Given the description of an element on the screen output the (x, y) to click on. 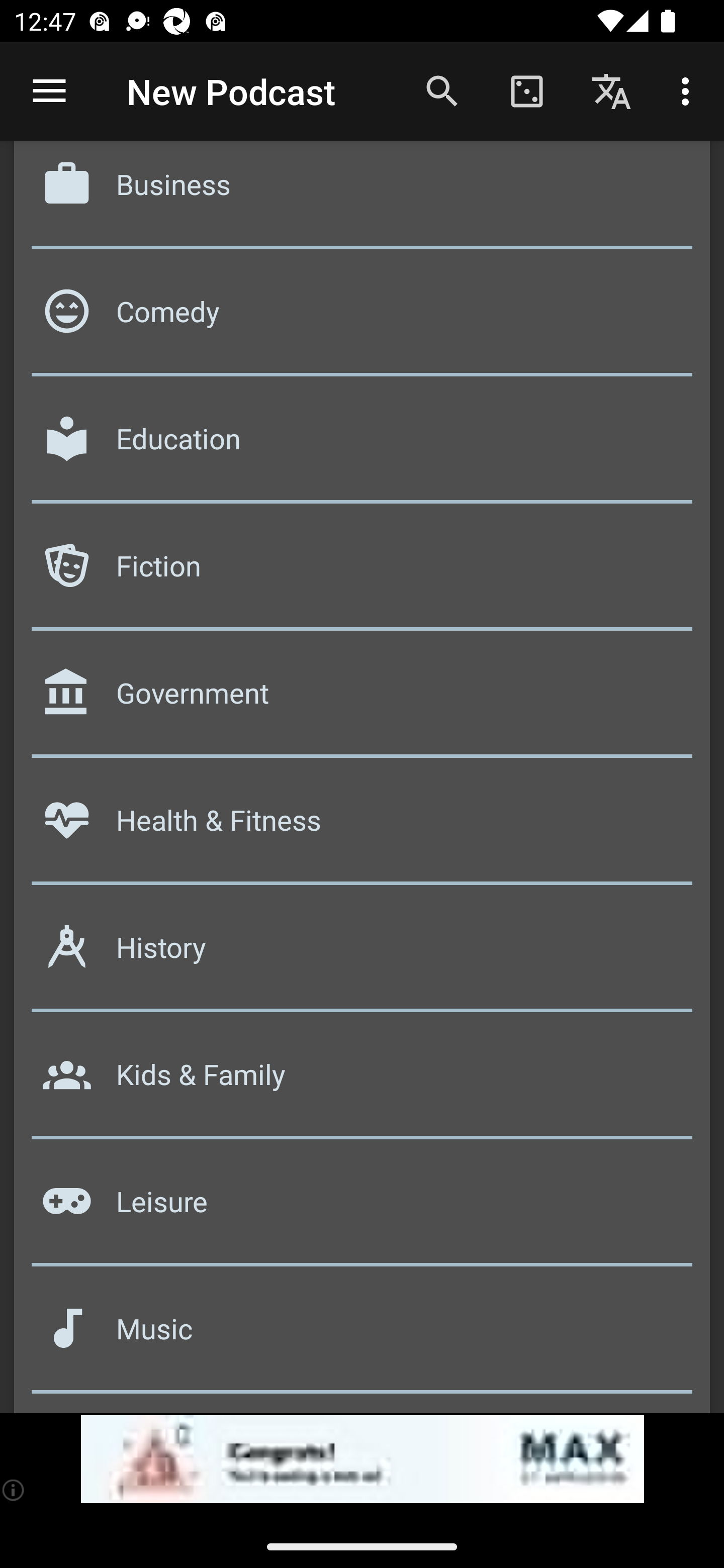
Open navigation sidebar (49, 91)
Search (442, 90)
Random pick (526, 90)
Podcast languages (611, 90)
More options (688, 90)
Business (361, 197)
Comedy (361, 318)
Education (361, 445)
Fiction (361, 572)
Government (361, 699)
Health & Fitness (361, 826)
History (361, 953)
Kids & Family (361, 1080)
Leisure (361, 1207)
Music (361, 1334)
app-monetization (362, 1459)
(i) (14, 1489)
